Given the description of an element on the screen output the (x, y) to click on. 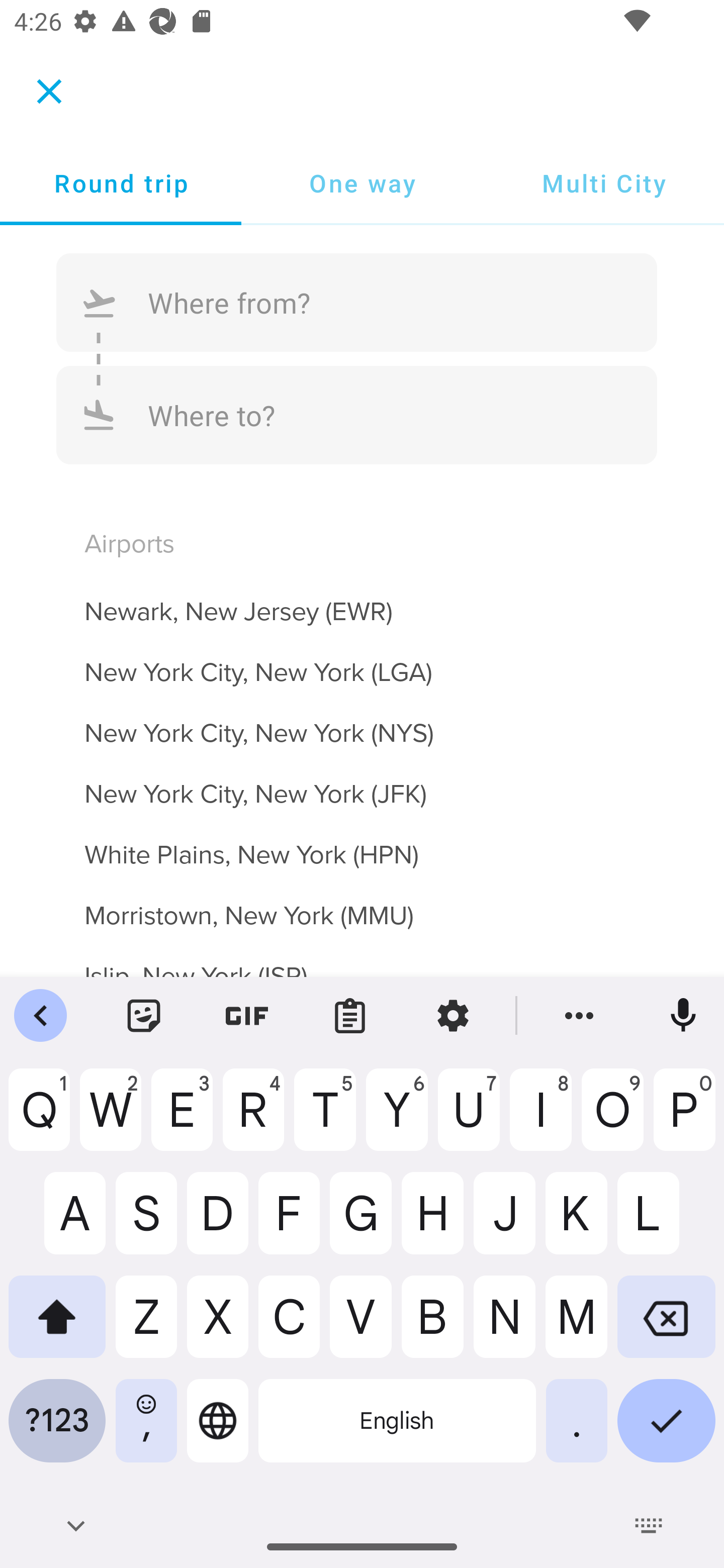
Cancel (49, 90)
One way (361, 183)
Multi City (603, 183)
Where from? (356, 302)
Where to? (356, 414)
Newark, New Jersey (EWR) (361, 599)
New York City, New York (LGA) (361, 660)
New York City, New York (NYS) (361, 721)
New York City, New York (JFK) (361, 782)
White Plains, New York (HPN) (361, 843)
Morristown, New York (MMU) (361, 903)
